Given the description of an element on the screen output the (x, y) to click on. 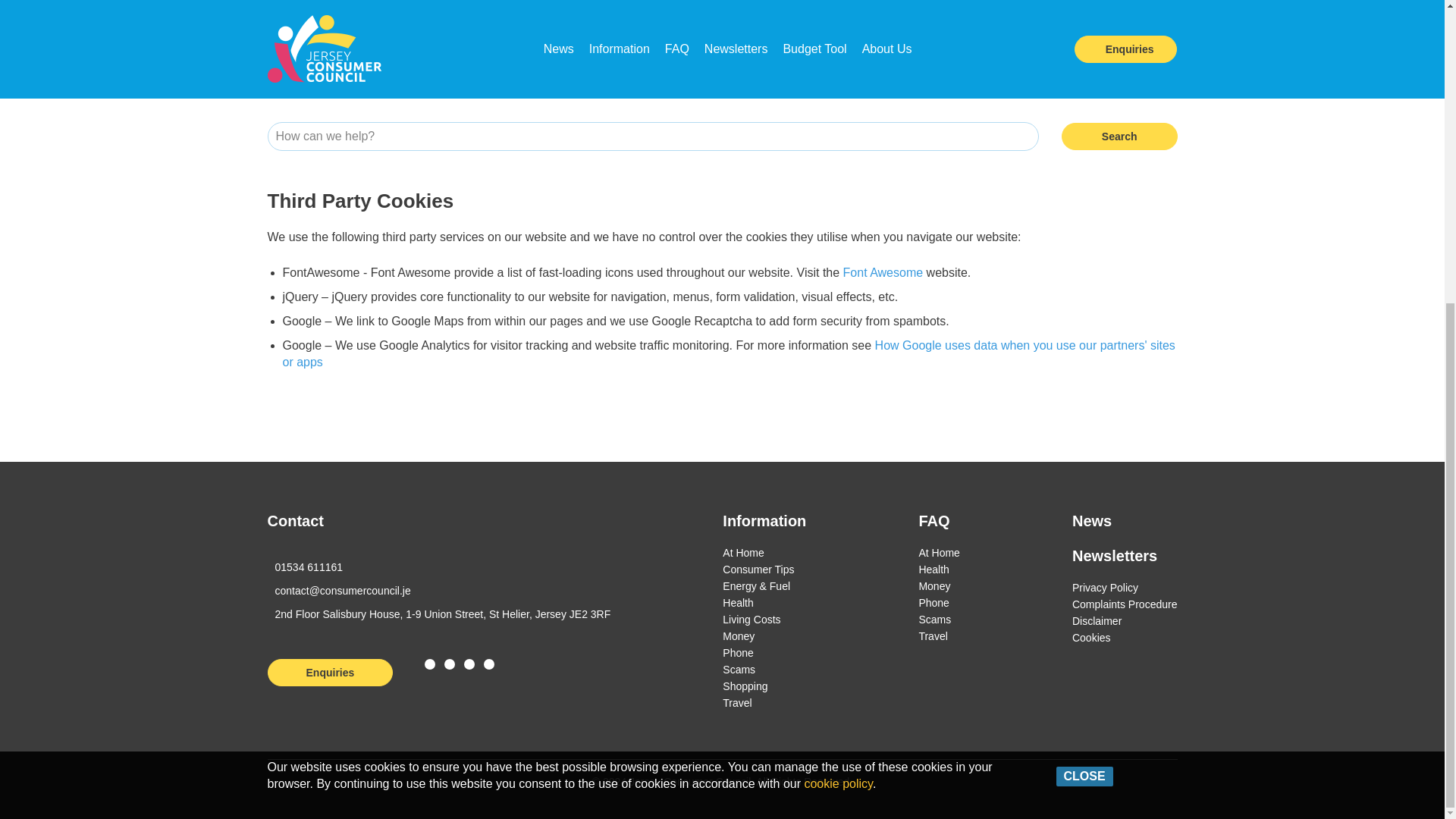
Shopping (744, 686)
cookie policy (837, 377)
Travel (736, 702)
Enquiries (329, 672)
Consumer Tips (757, 569)
At Home (742, 552)
Living Costs (751, 619)
01534 611161 (304, 567)
Health (737, 603)
Scams (738, 669)
CLOSE (1083, 369)
Phone (737, 653)
Money (738, 635)
